Given the description of an element on the screen output the (x, y) to click on. 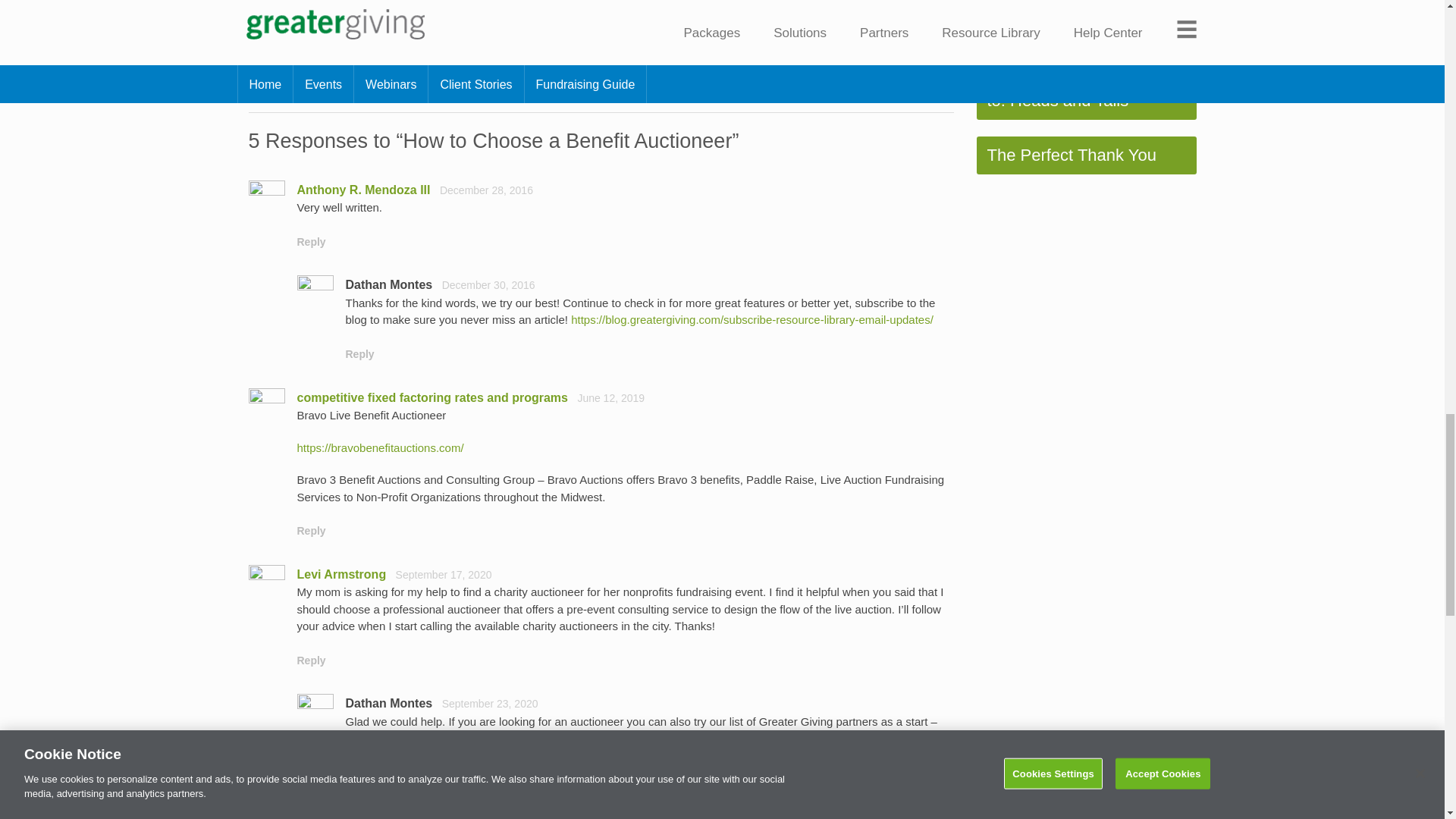
Posts by Jill Boyer (394, 12)
